Given the description of an element on the screen output the (x, y) to click on. 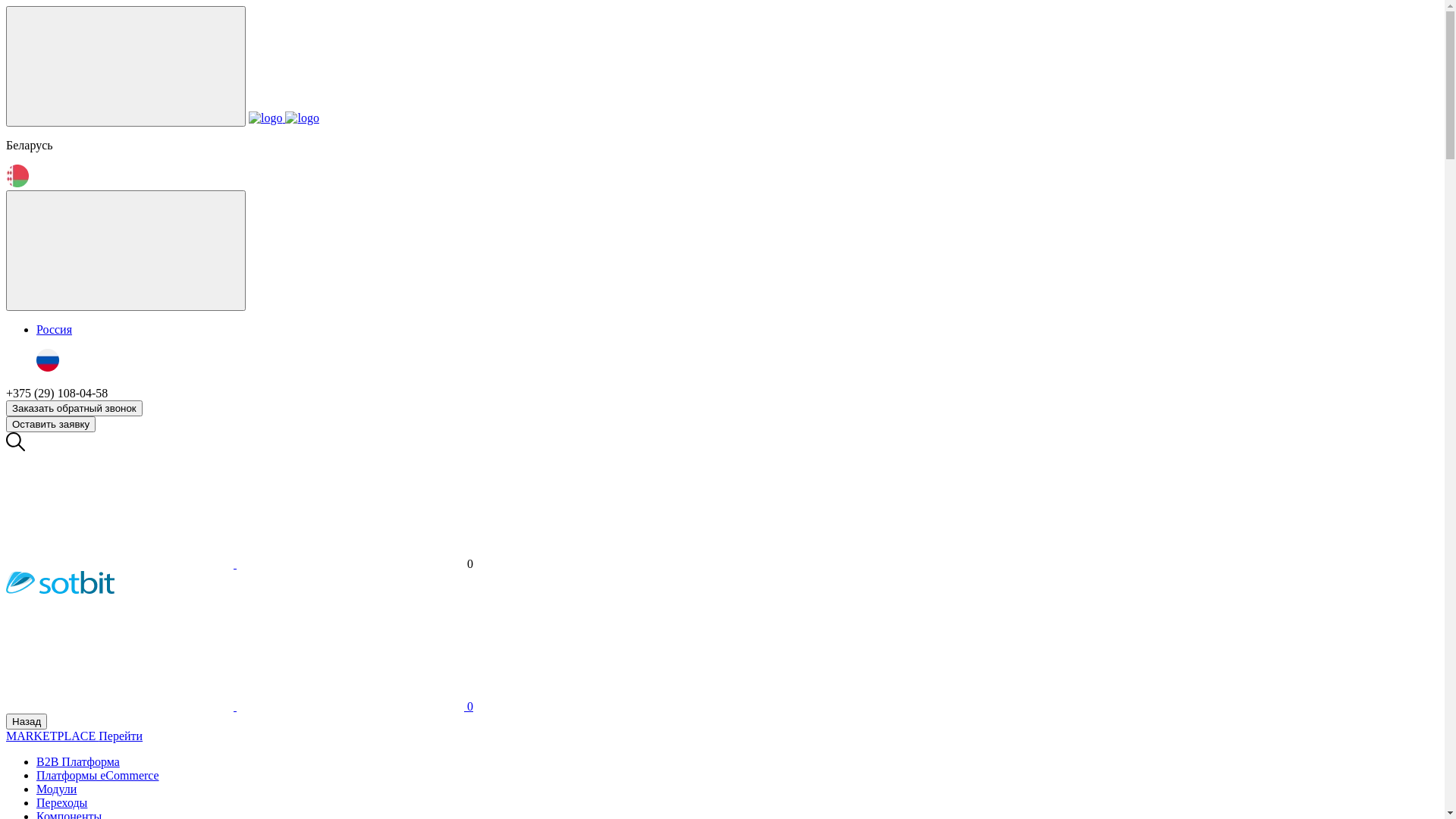
0 Element type: text (354, 705)
MARKETPLACE Element type: text (52, 735)
0 Element type: text (356, 563)
